Given the description of an element on the screen output the (x, y) to click on. 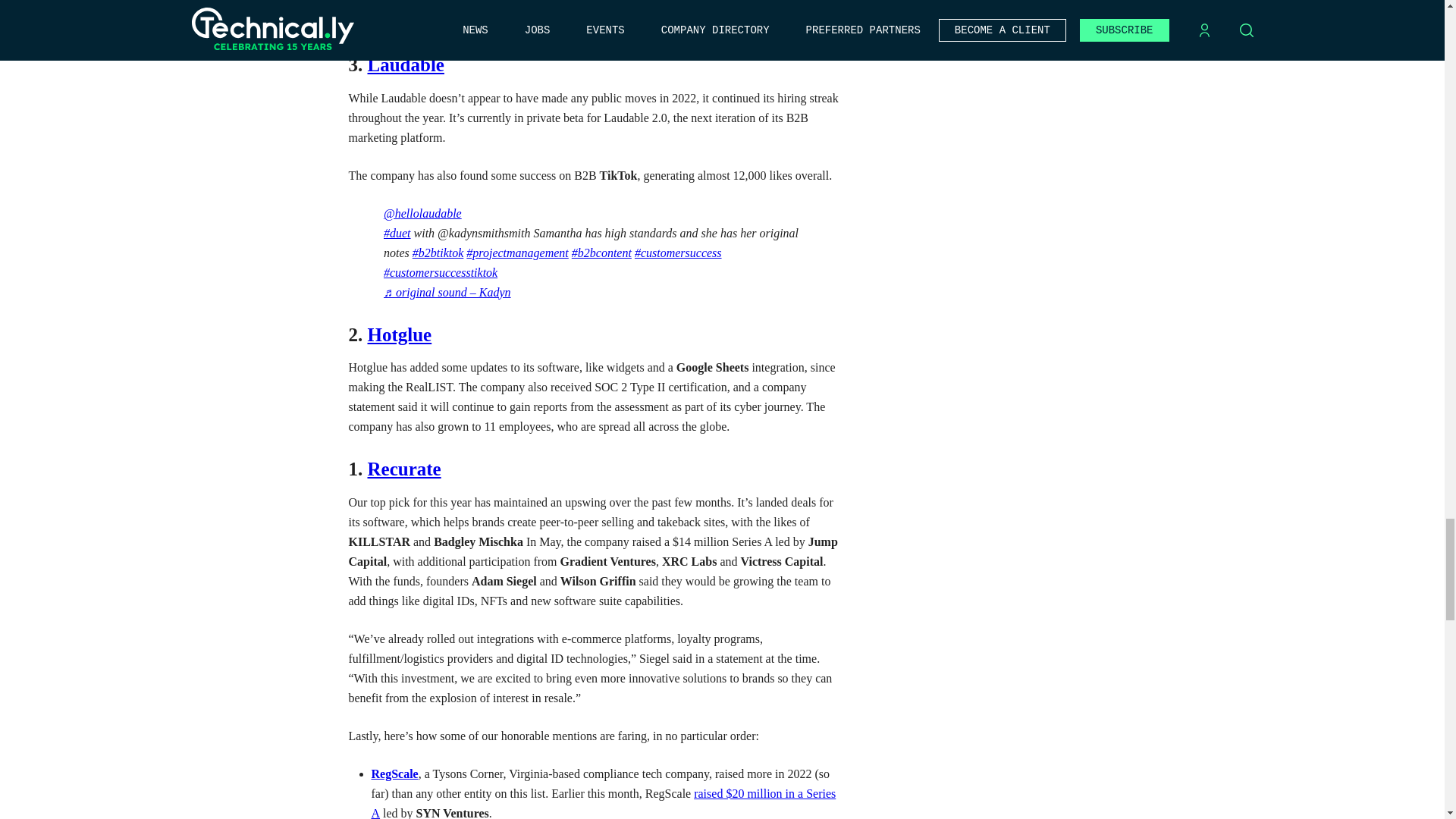
customersuccess (678, 252)
b2bcontent (601, 252)
Laudable (405, 64)
duet (397, 232)
customersuccesstiktok (440, 272)
projectmanagement (516, 252)
b2btiktok (438, 252)
